Given the description of an element on the screen output the (x, y) to click on. 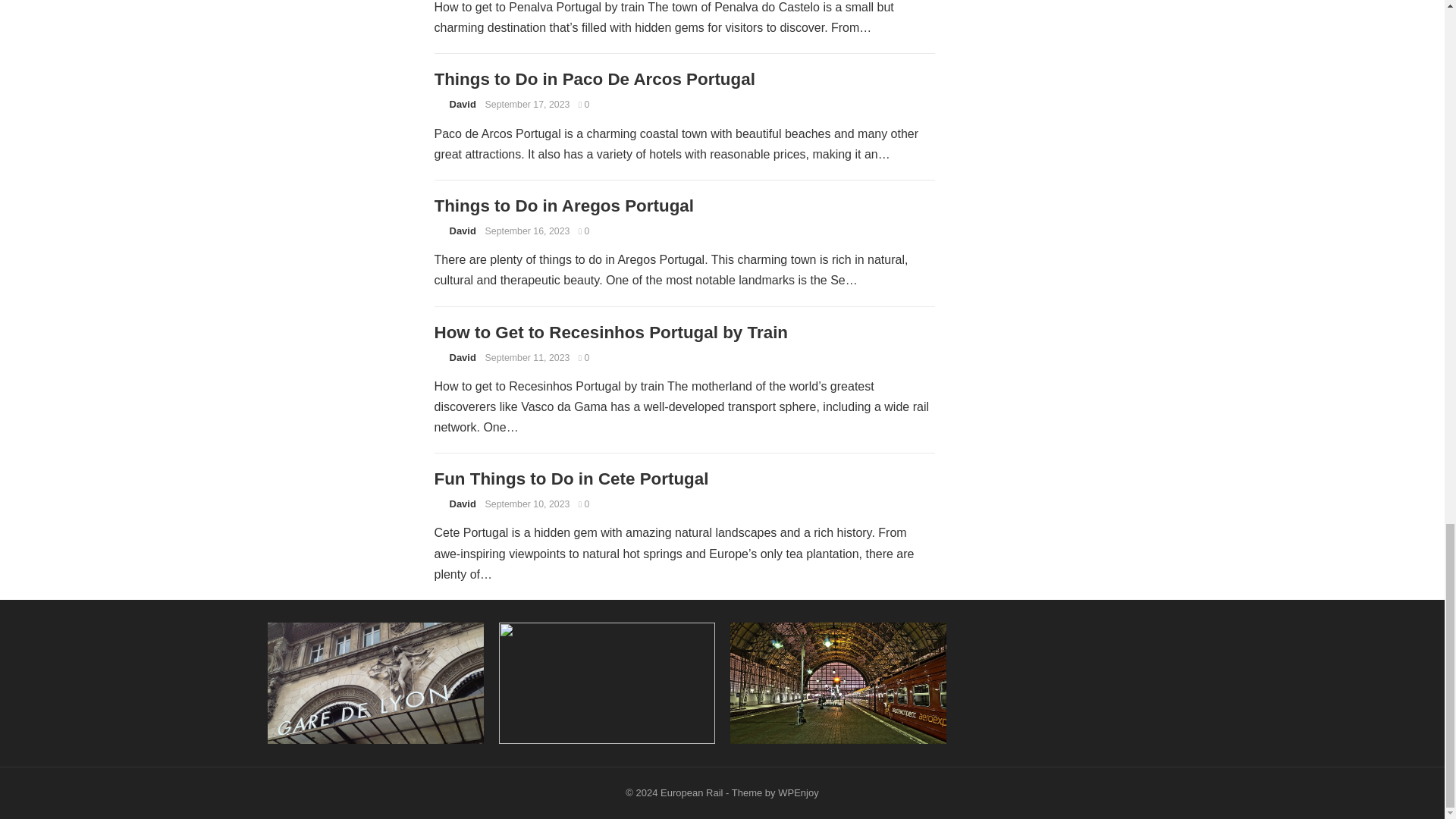
Posts by David (462, 503)
Posts by David (462, 103)
Things to Do in Paco De Arcos Portugal (593, 78)
Posts by David (462, 230)
Posts by David (462, 357)
